Given the description of an element on the screen output the (x, y) to click on. 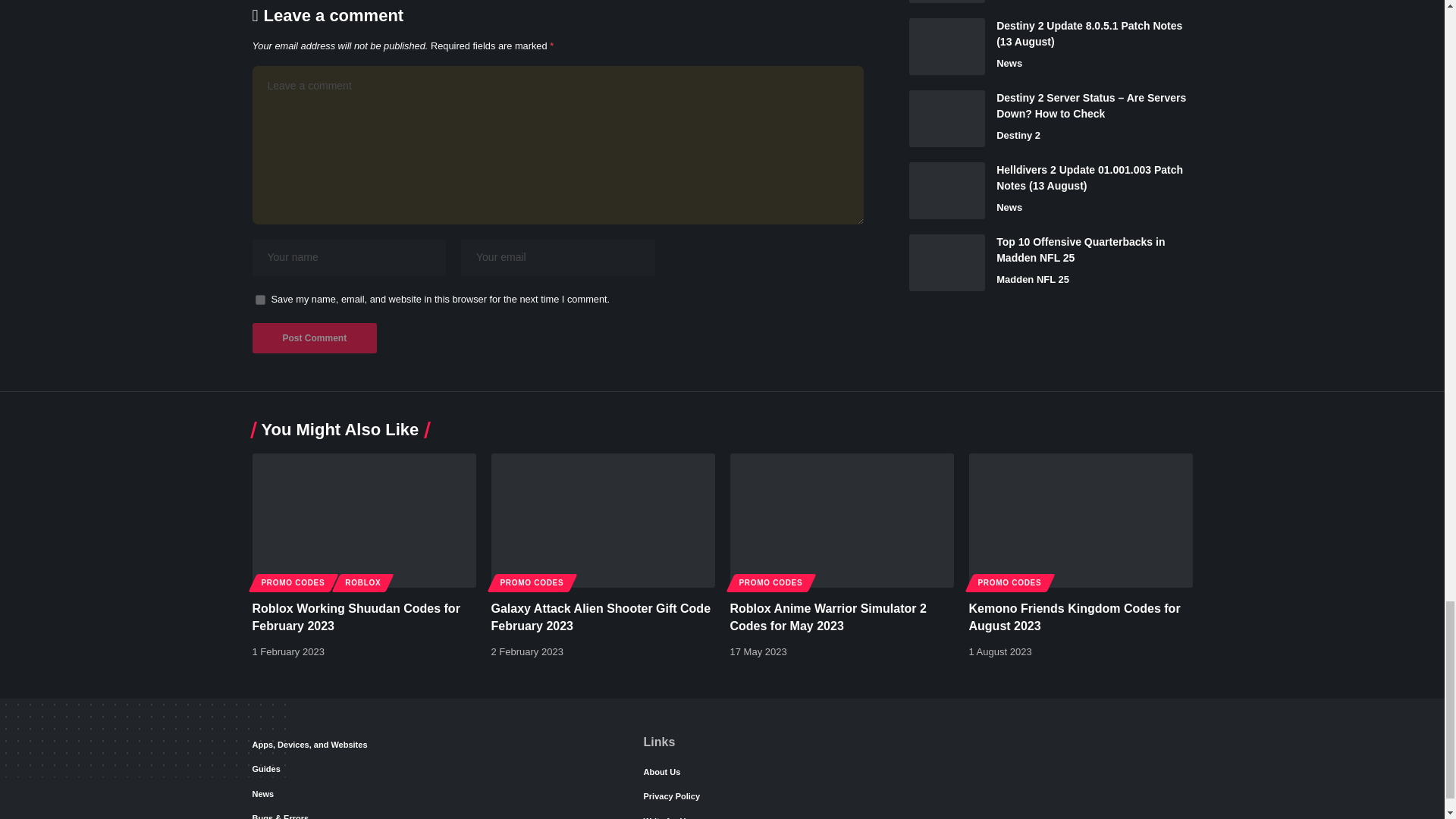
Post Comment (314, 337)
Roblox Anime Warrior Simulator 2 Codes for May 2023 (841, 520)
Kemono Friends Kingdom Codes for August 2023 (1080, 520)
Galaxy Attack Alien Shooter Gift Code February 2023 (603, 520)
Roblox Working Shuudan Codes for February 2023 (363, 520)
yes (259, 299)
